Given the description of an element on the screen output the (x, y) to click on. 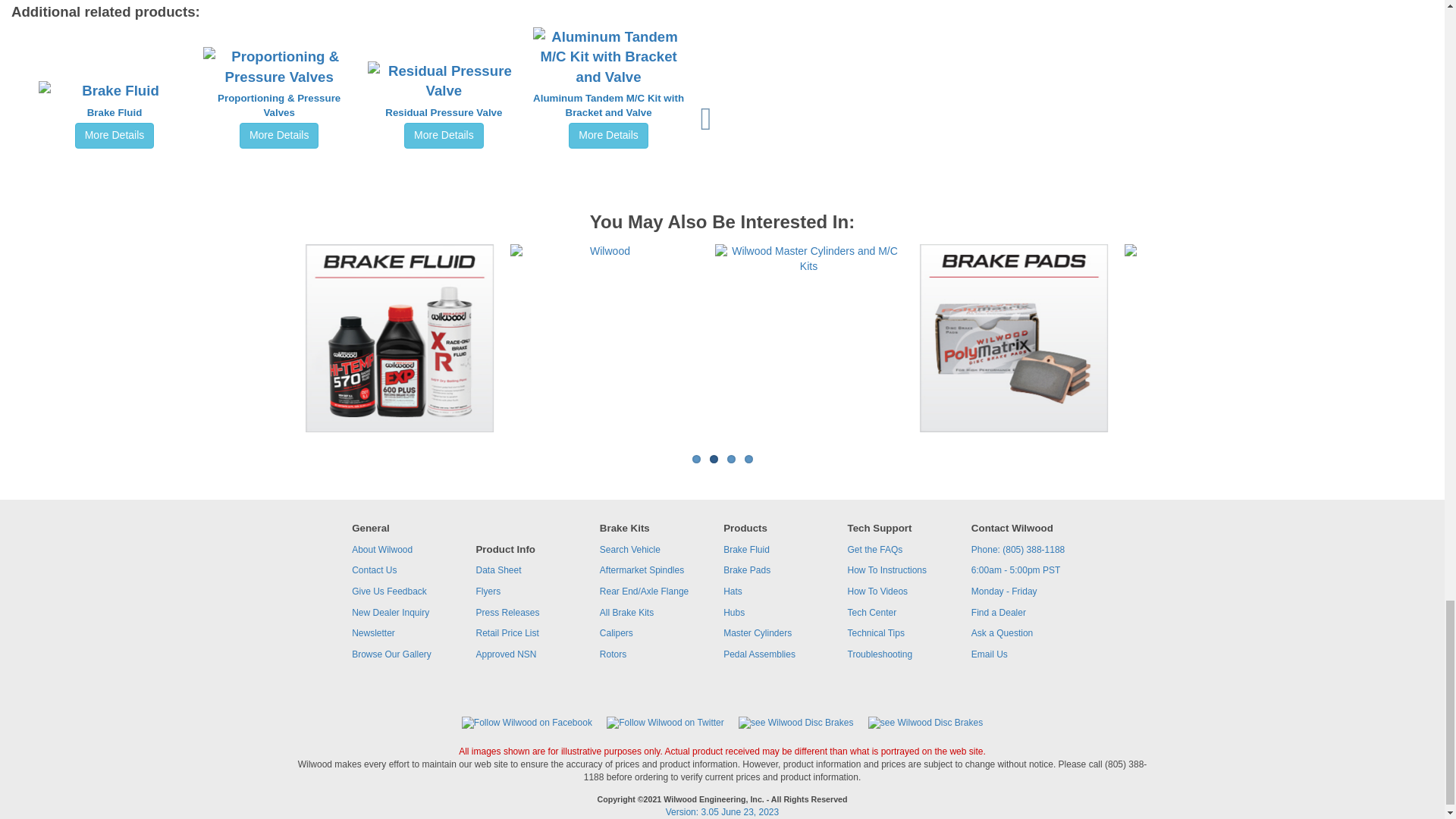
Wilwood brake line proportioning valves (1218, 258)
Wilwood  (603, 251)
Wilwood Brake Pads for Street or Track (1013, 337)
Wilwood Brake Fluids (399, 337)
